Given the description of an element on the screen output the (x, y) to click on. 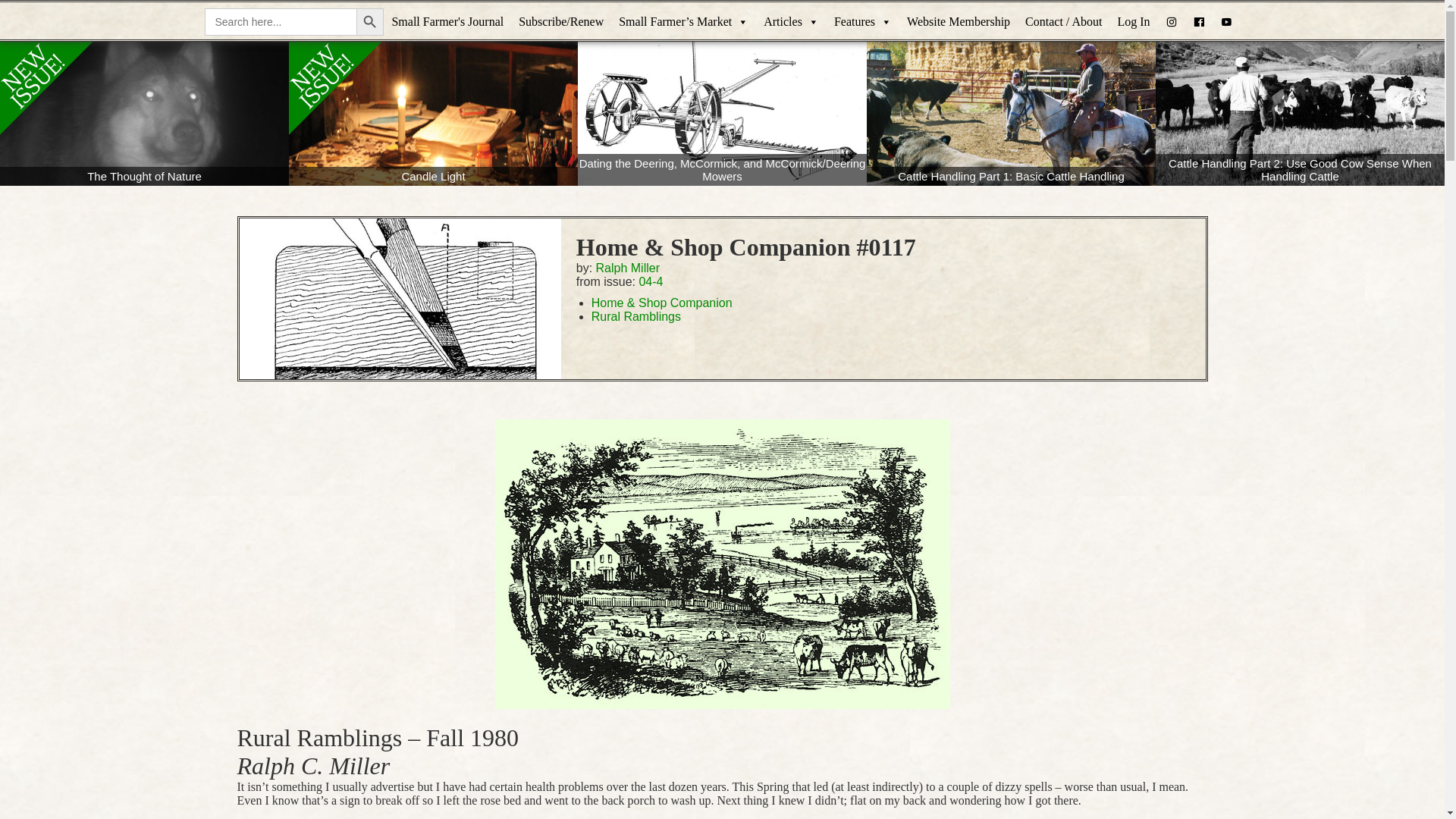
Website Membership (958, 21)
The Thought of Nature (144, 112)
Small Farmer's Journal (447, 21)
Search Button (370, 22)
Log In (1133, 21)
Articles (791, 21)
Features (863, 21)
